Given the description of an element on the screen output the (x, y) to click on. 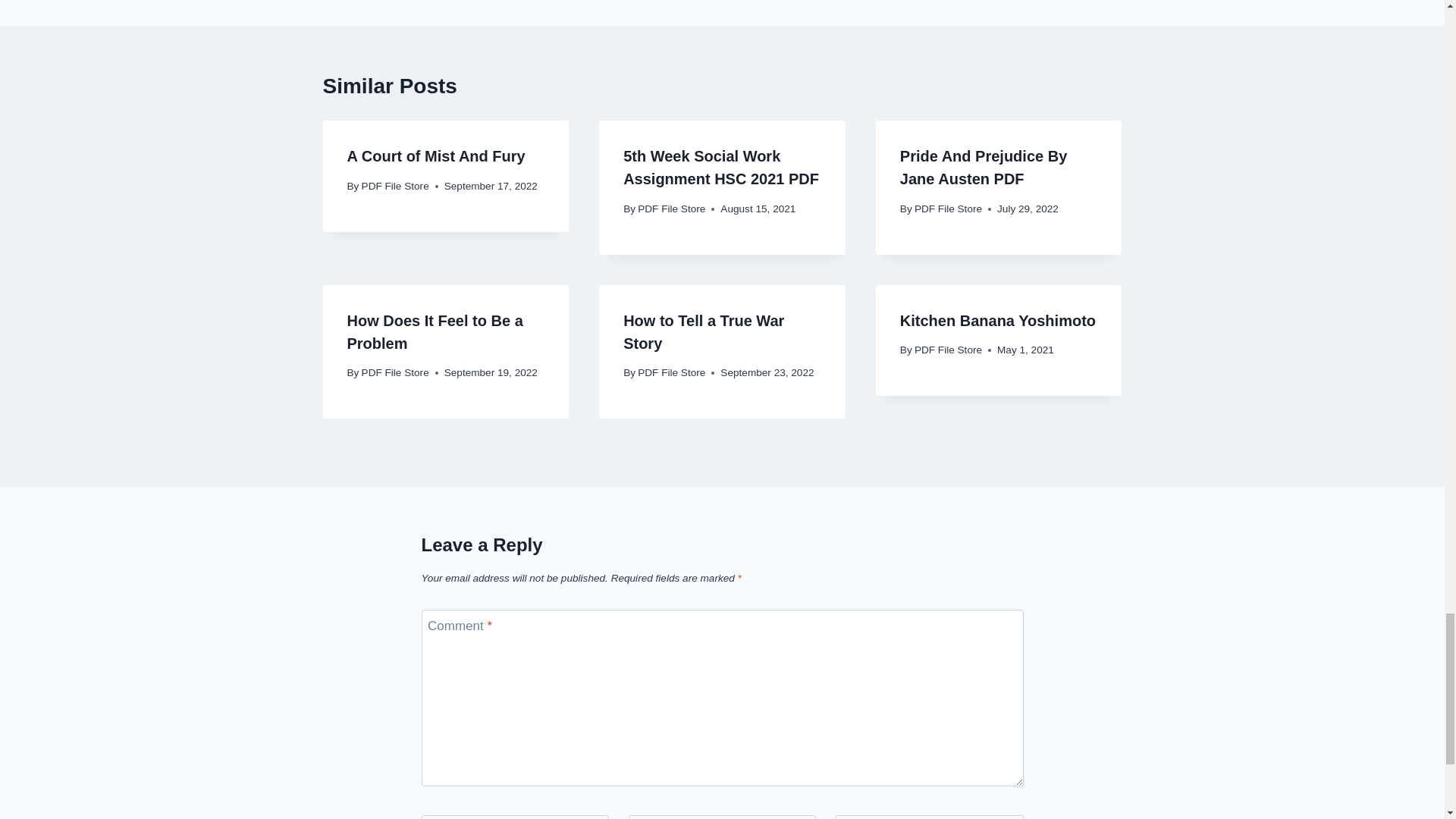
A Court of Mist And Fury (436, 156)
5th Week Social Work Assignment HSC 2021 PDF (720, 167)
PDF File Store (395, 185)
